Given the description of an element on the screen output the (x, y) to click on. 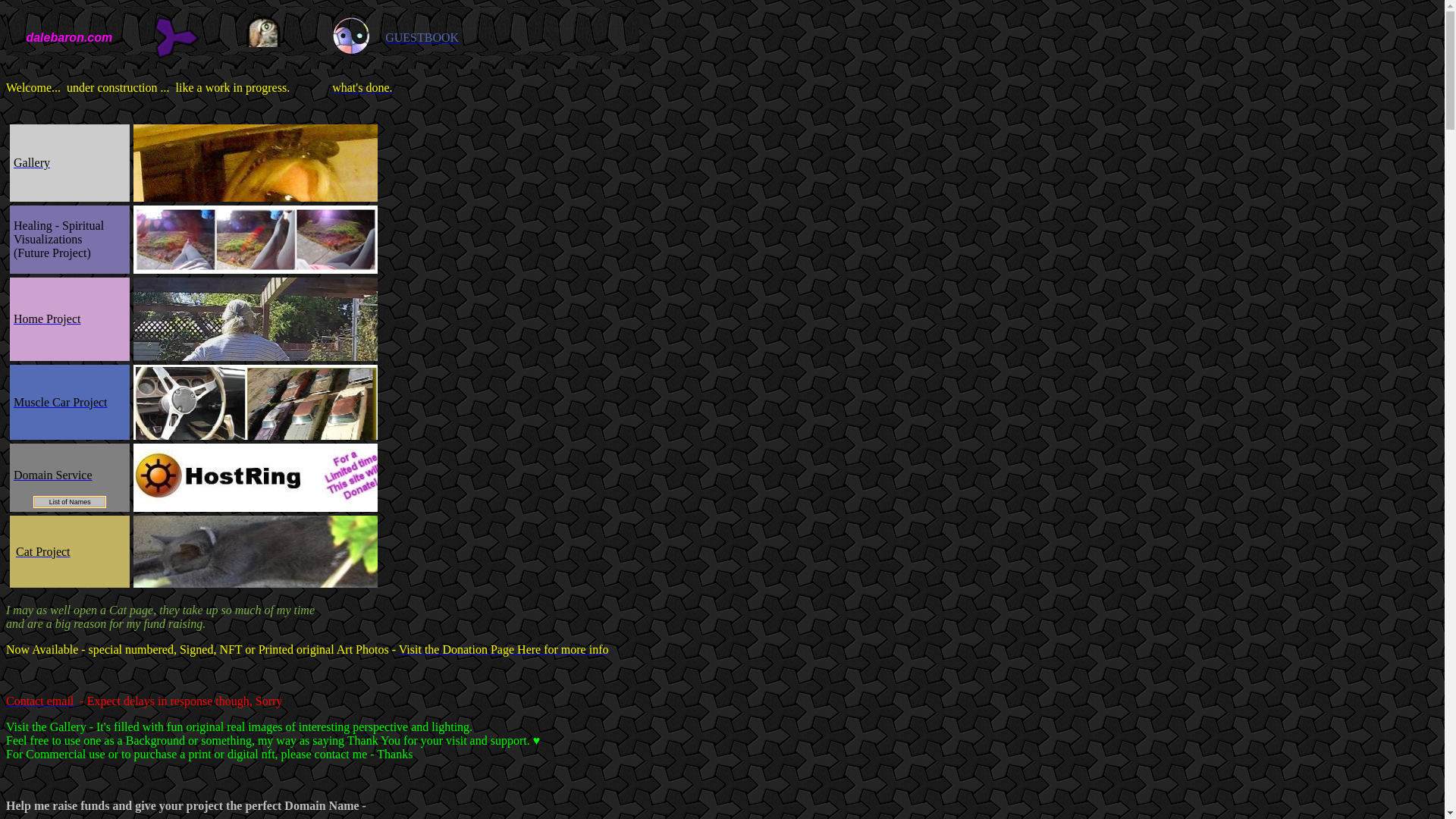
Cat Project (42, 550)
Contact email (39, 700)
GUESTBOOK (421, 36)
what's done. (361, 87)
Domain Service (53, 474)
List of Names (69, 501)
Visit the Donation Page Here for more info (503, 649)
Gallery (31, 162)
Home Project (46, 318)
Muscle Car Project (60, 401)
